Given the description of an element on the screen output the (x, y) to click on. 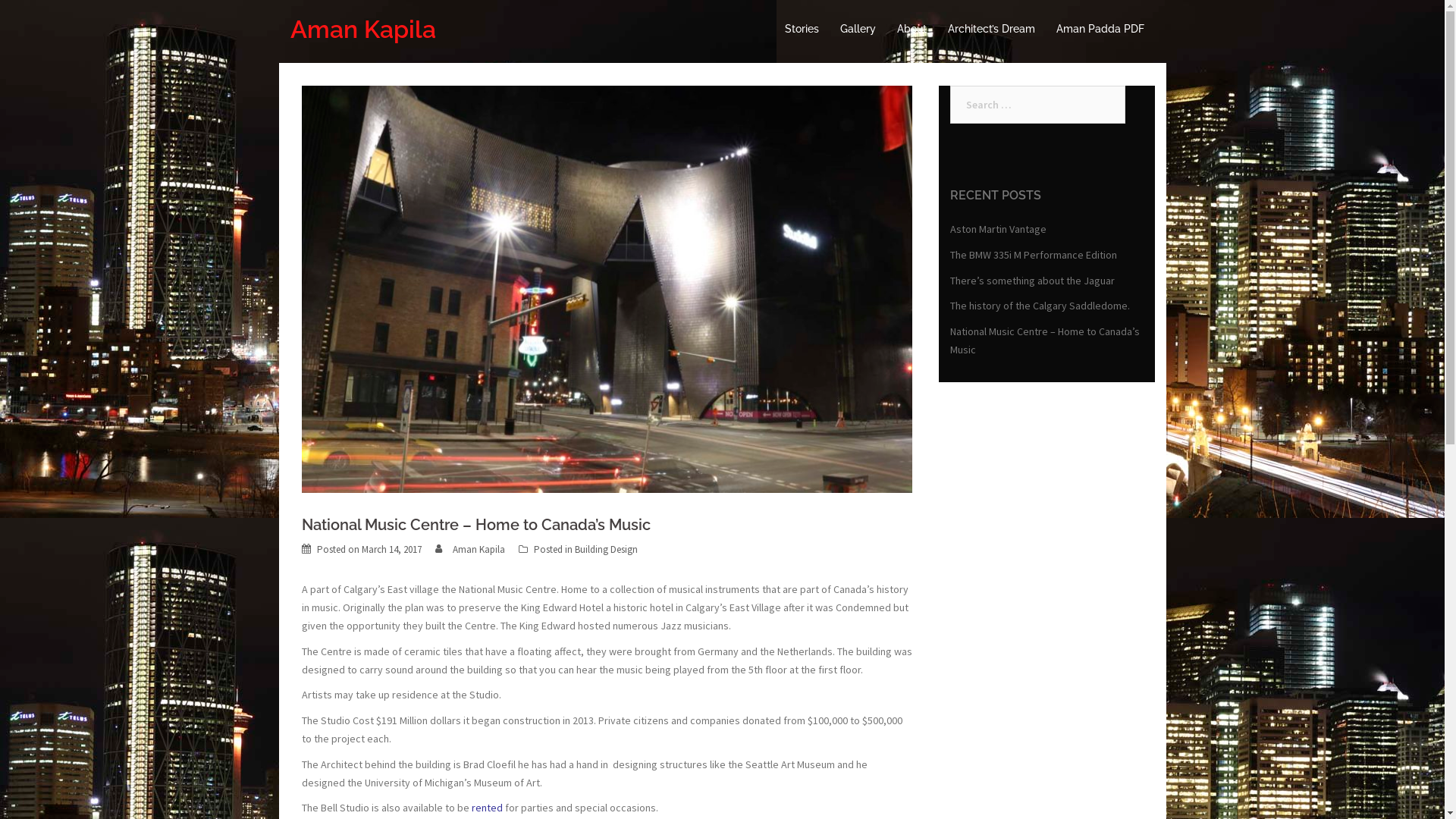
March 14, 2017 Element type: text (390, 548)
Aman Padda PDF Element type: text (1099, 29)
Stories Element type: text (801, 29)
Building Design Element type: text (605, 548)
Aston Martin Vantage Element type: text (997, 228)
The BMW 335i M Performance Edition Element type: text (1032, 254)
Gallery Element type: text (857, 29)
About Element type: text (910, 29)
rented Element type: text (486, 807)
The history of the Calgary Saddledome. Element type: text (1039, 305)
Search Element type: text (46, 18)
Aman Kapila Element type: text (362, 29)
Aman Kapila Element type: text (477, 548)
